Given the description of an element on the screen output the (x, y) to click on. 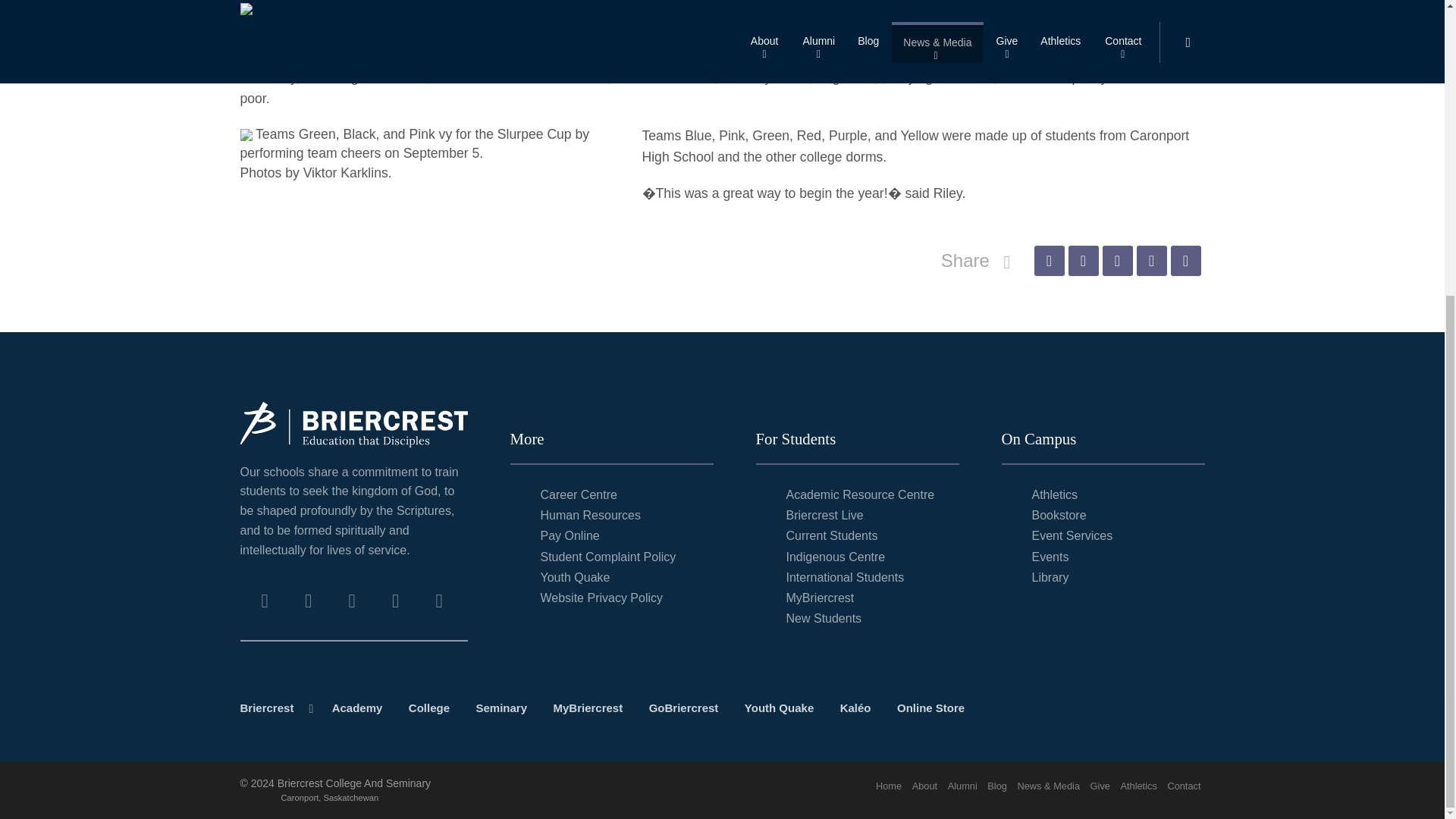
email a link to this (1185, 260)
share this to my Facebook page (1048, 260)
share this to Pinterest (1117, 260)
share this to LinkedIn (1150, 260)
share this to my Twitter account (1082, 260)
